Given the description of an element on the screen output the (x, y) to click on. 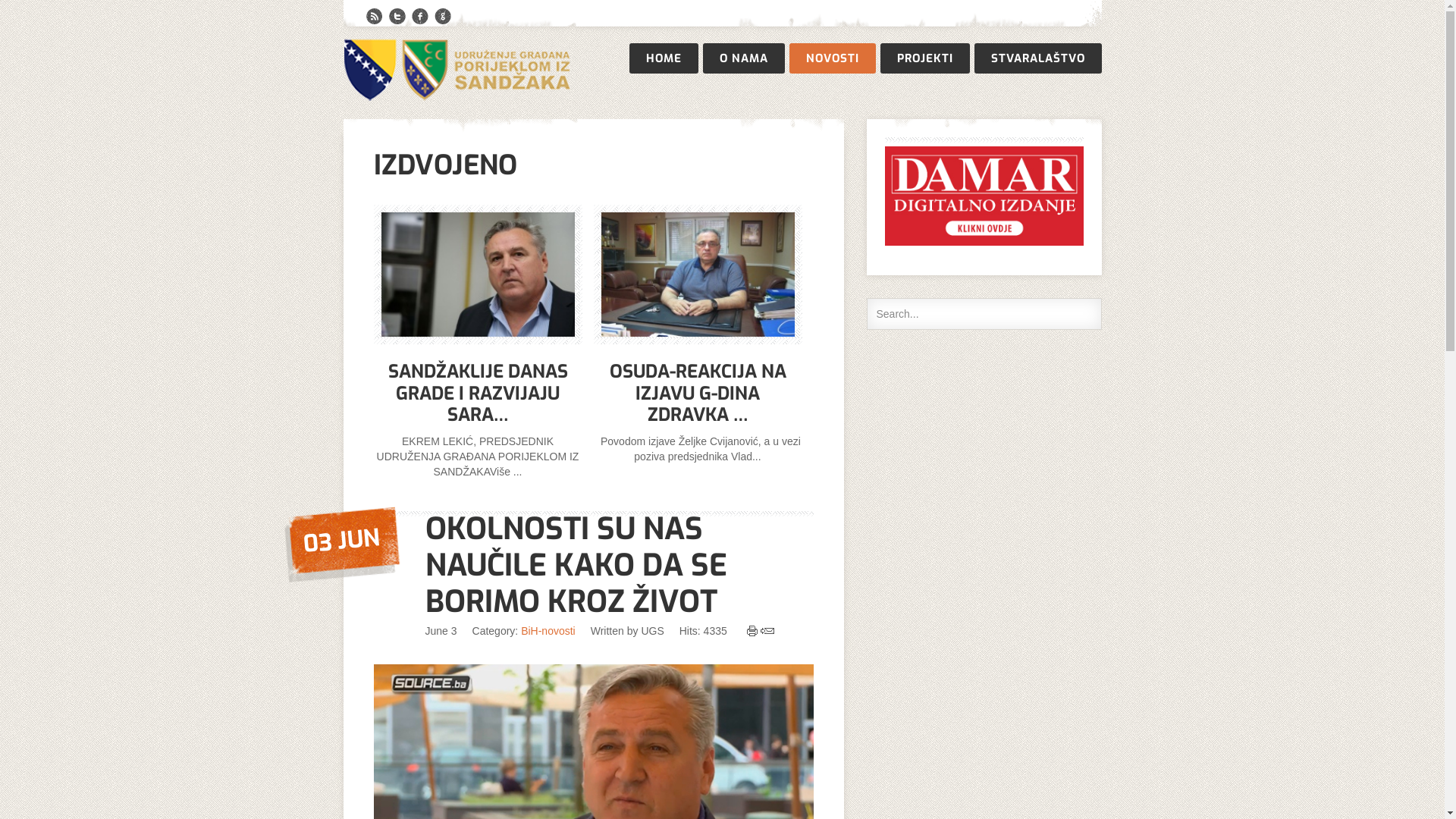
PROJEKTI Element type: text (924, 58)
O NAMA Element type: text (743, 58)
Facebook Element type: text (419, 16)
 Print  Element type: text (752, 630)
RSS Element type: text (373, 16)
Damar Element type: hover (983, 241)
Publisher Element type: text (456, 68)
Email Element type: text (767, 630)
HOME Element type: text (663, 58)
Twitter Element type: text (396, 16)
BiH-novosti Element type: text (547, 630)
NOVOSTI Element type: text (831, 58)
Google+ Element type: text (441, 16)
